Given the description of an element on the screen output the (x, y) to click on. 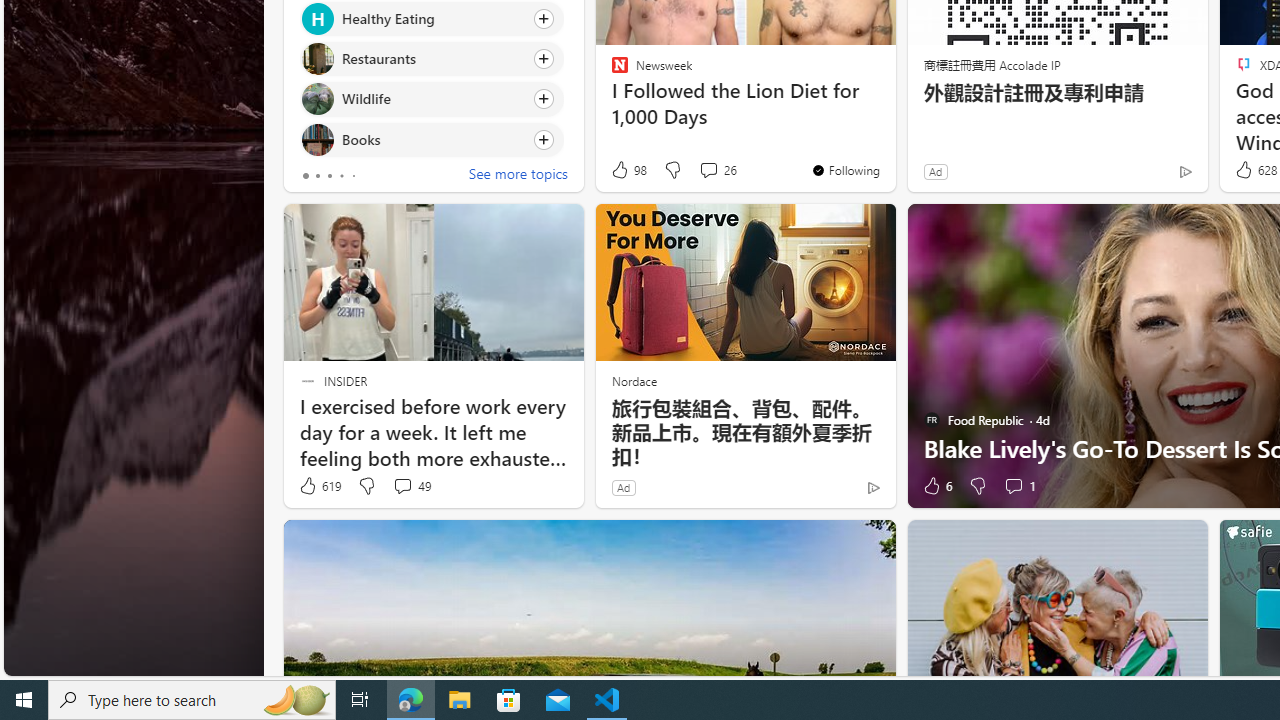
View comments 26 Comment (716, 170)
